Given the description of an element on the screen output the (x, y) to click on. 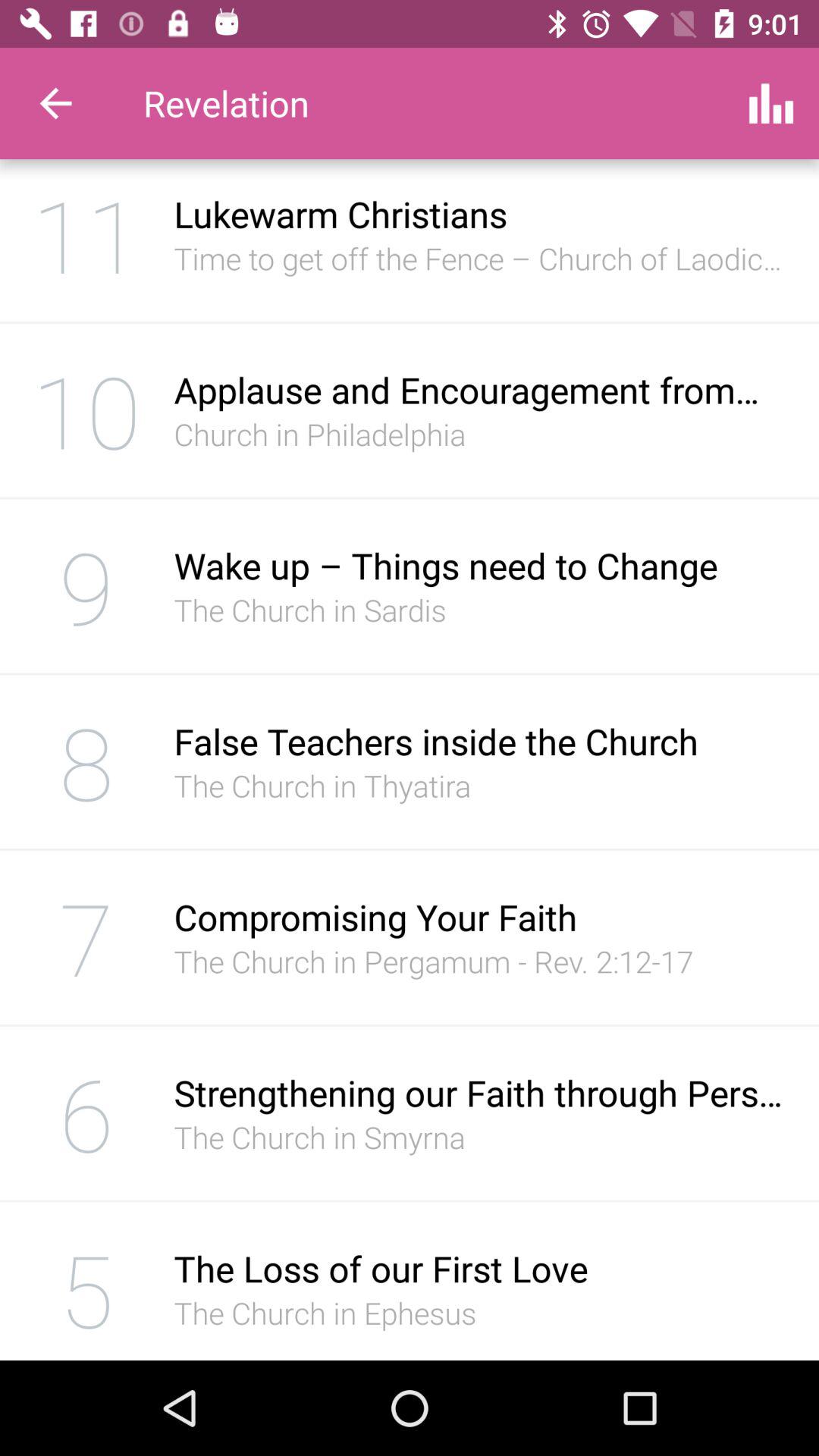
tap the item below the 8 (86, 937)
